Given the description of an element on the screen output the (x, y) to click on. 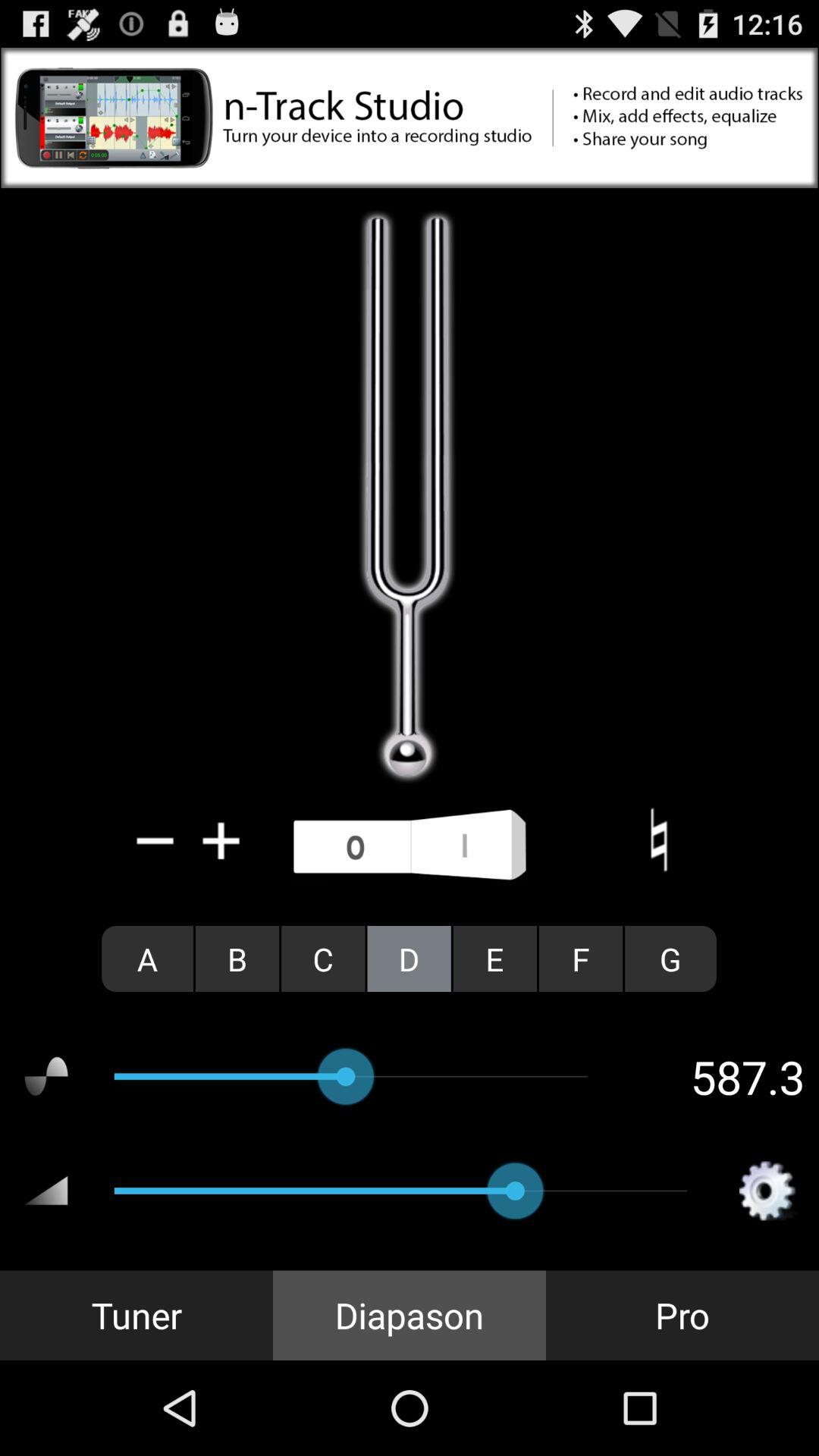
flip until the a radio button (147, 958)
